Given the description of an element on the screen output the (x, y) to click on. 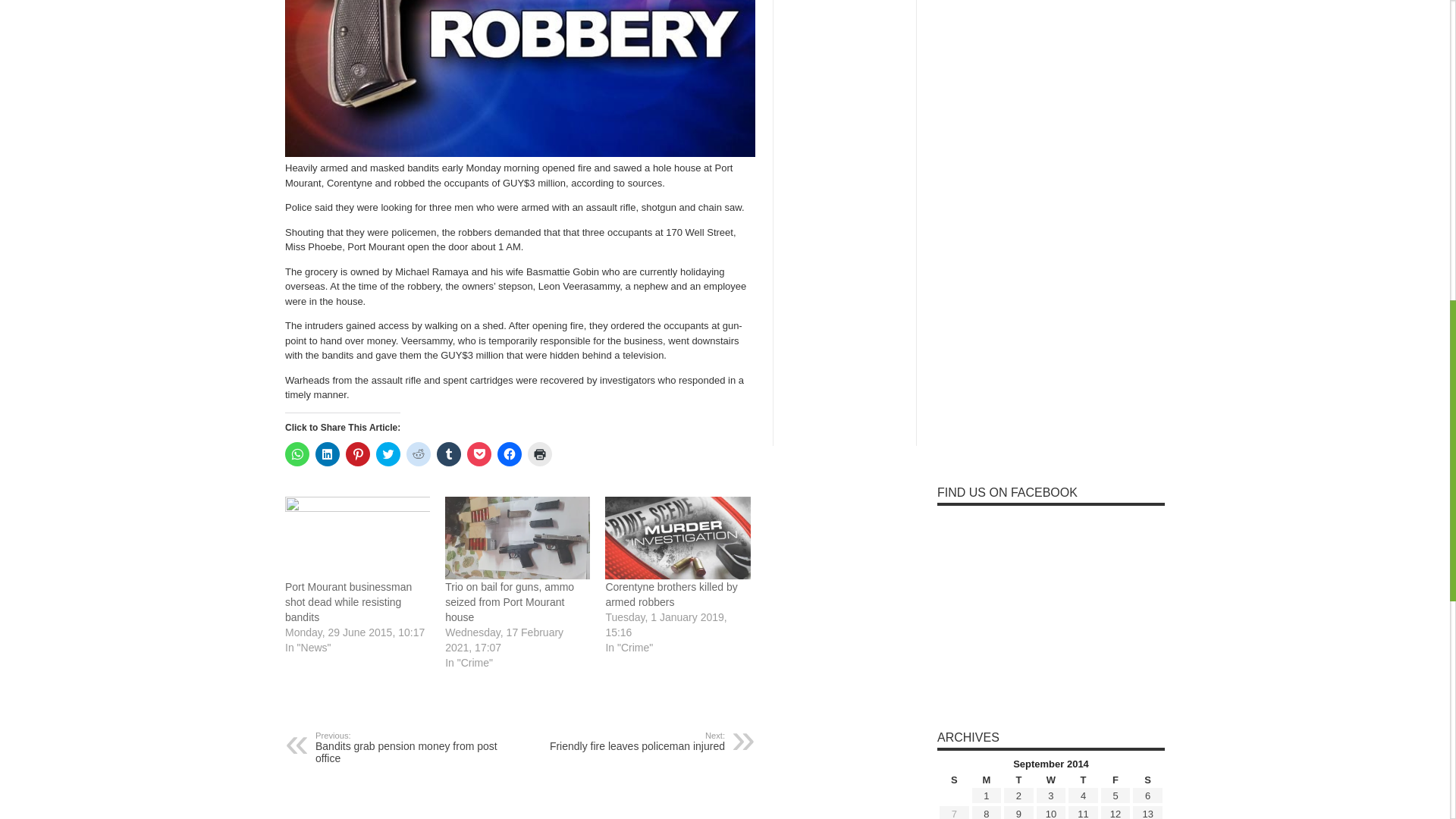
Click to share on LinkedIn (327, 454)
Click to share on Pocket (479, 454)
Port Mourant businessman shot dead while resisting bandits (348, 601)
Click to share on Facebook (509, 454)
Click to share on Twitter (387, 454)
Click to share on Reddit (418, 454)
Click to share on Tumblr (448, 454)
Click to share on WhatsApp (296, 454)
Click to print (539, 454)
Click to share on Pinterest (357, 454)
